Given the description of an element on the screen output the (x, y) to click on. 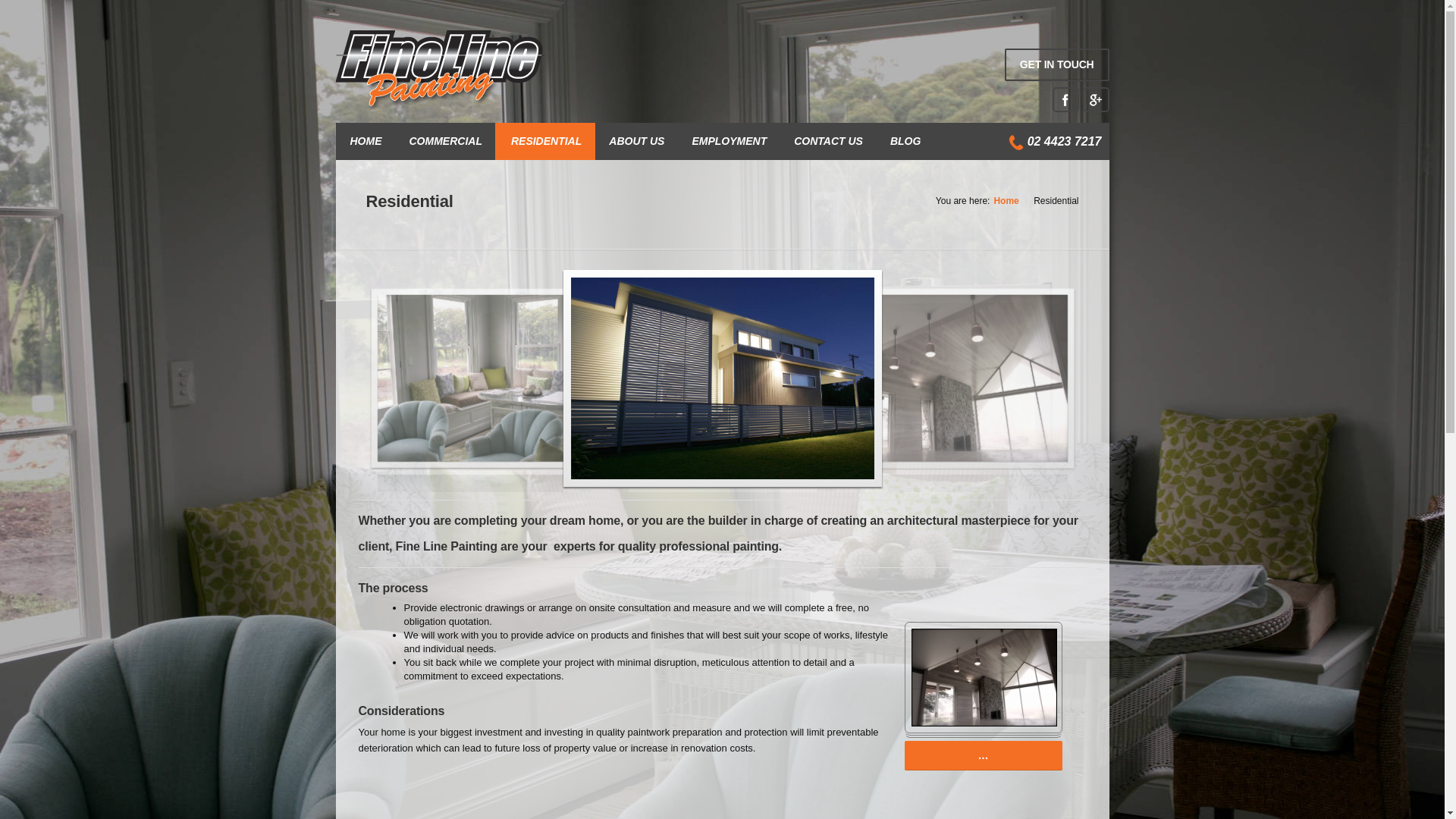
HOME Element type: text (365, 141)
GET IN TOUCH Element type: text (1056, 64)
CONTACT US Element type: text (828, 141)
Phone Element type: hover (1015, 142)
RESIDENTIAL Element type: text (545, 141)
02 4423 7217 Element type: text (1064, 140)
Home Element type: text (1005, 200)
ABOUT US Element type: text (636, 141)
Fine Line Painting Element type: hover (439, 69)
View Portfolio Element type: hover (983, 677)
gplus Element type: text (1095, 99)
EMPLOYMENT Element type: text (728, 141)
COMMERCIAL Element type: text (445, 141)
facebook Element type: text (1065, 99)
BLOG Element type: text (905, 141)
